Given the description of an element on the screen output the (x, y) to click on. 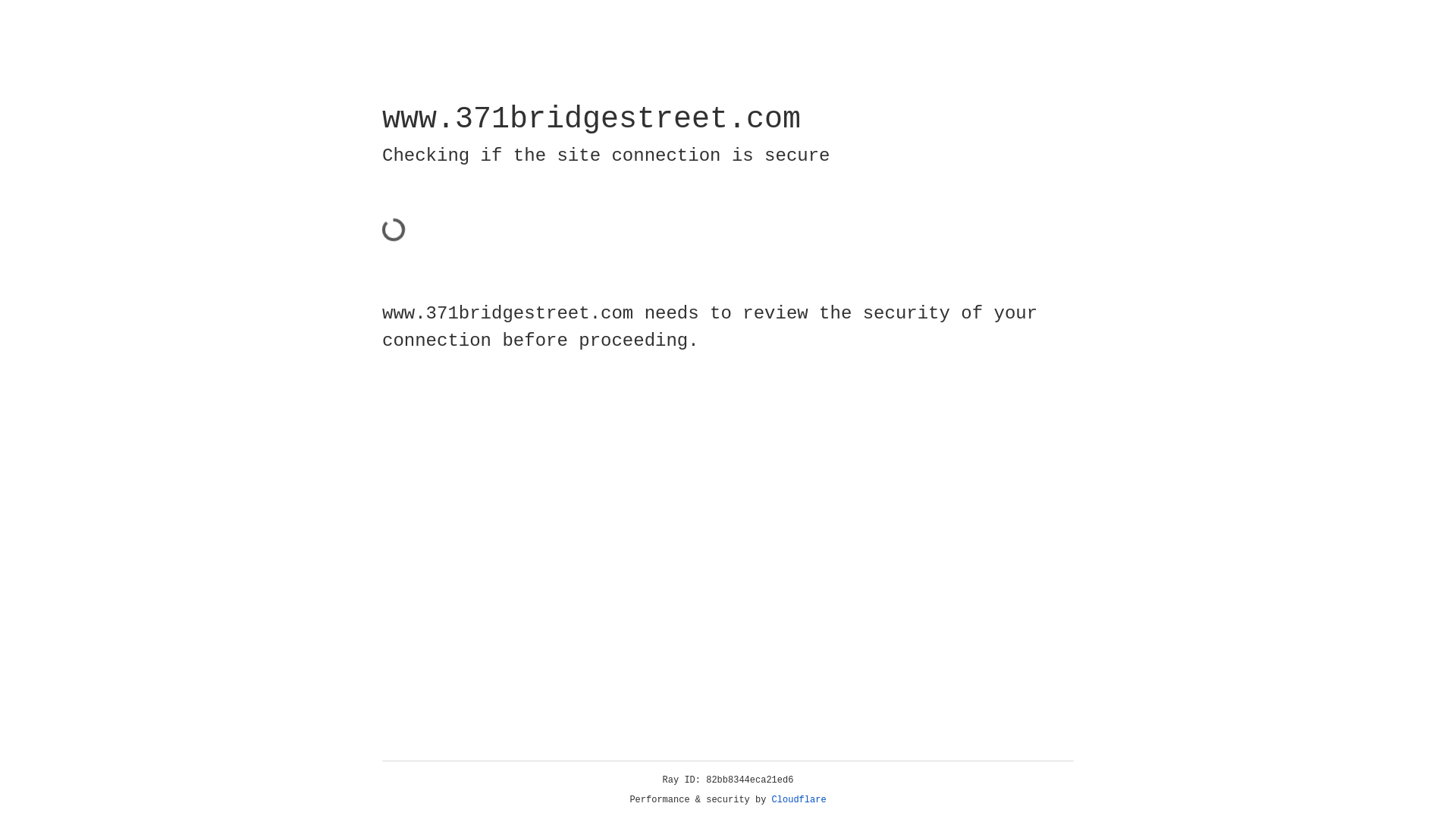
Cloudflare Element type: text (798, 799)
